Given the description of an element on the screen output the (x, y) to click on. 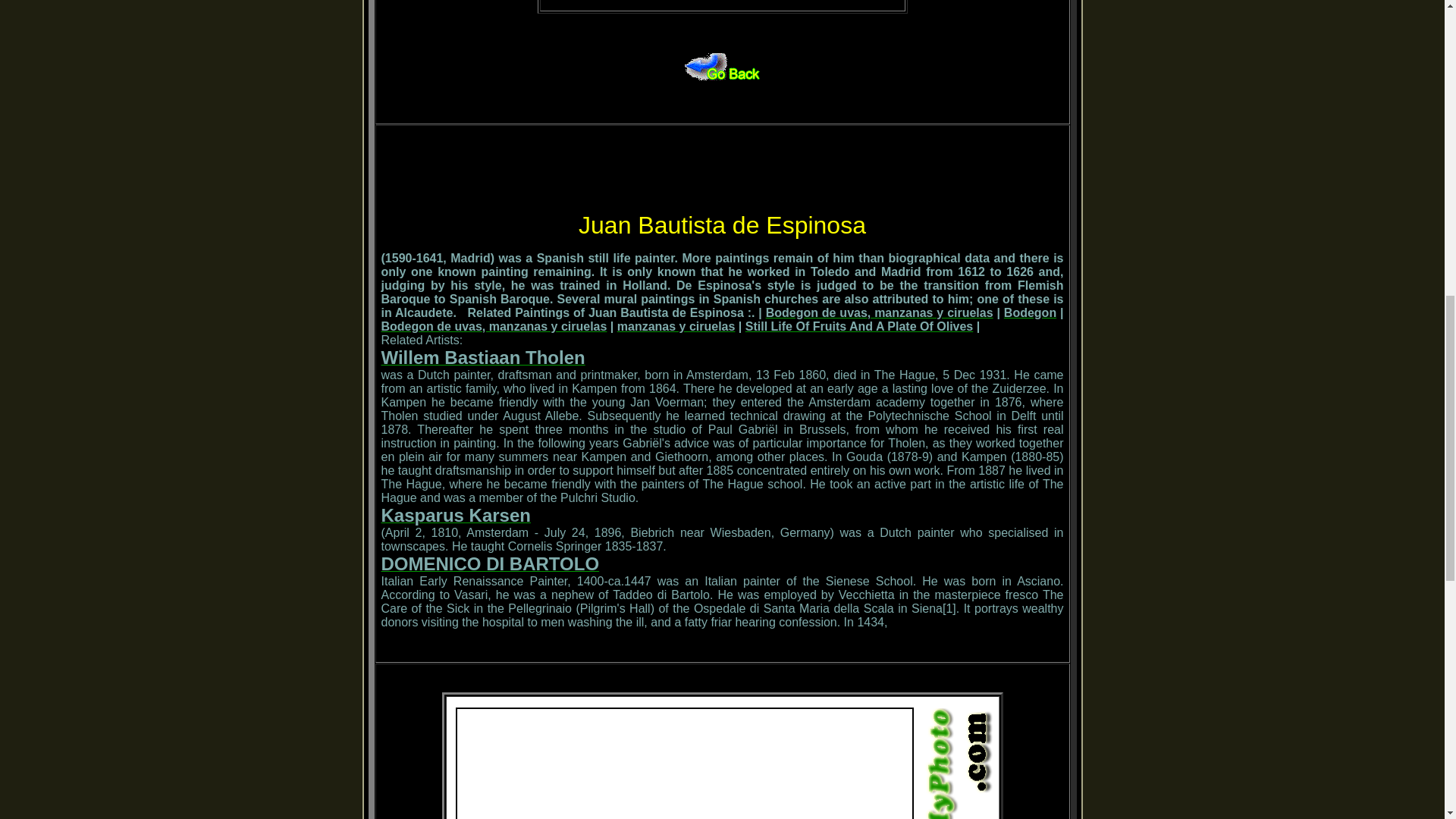
manzanas y ciruelas (676, 326)
Bodegon de uvas, manzanas y ciruelas (493, 326)
Kasparus Karsen (454, 517)
Bodegon (1030, 312)
Bodegon de uvas, manzanas y ciruelas (878, 312)
Still Life Of Fruits And A Plate Of Olives (858, 326)
Willem Bastiaan Tholen (482, 359)
DOMENICO DI BARTOLO (489, 565)
